Given the description of an element on the screen output the (x, y) to click on. 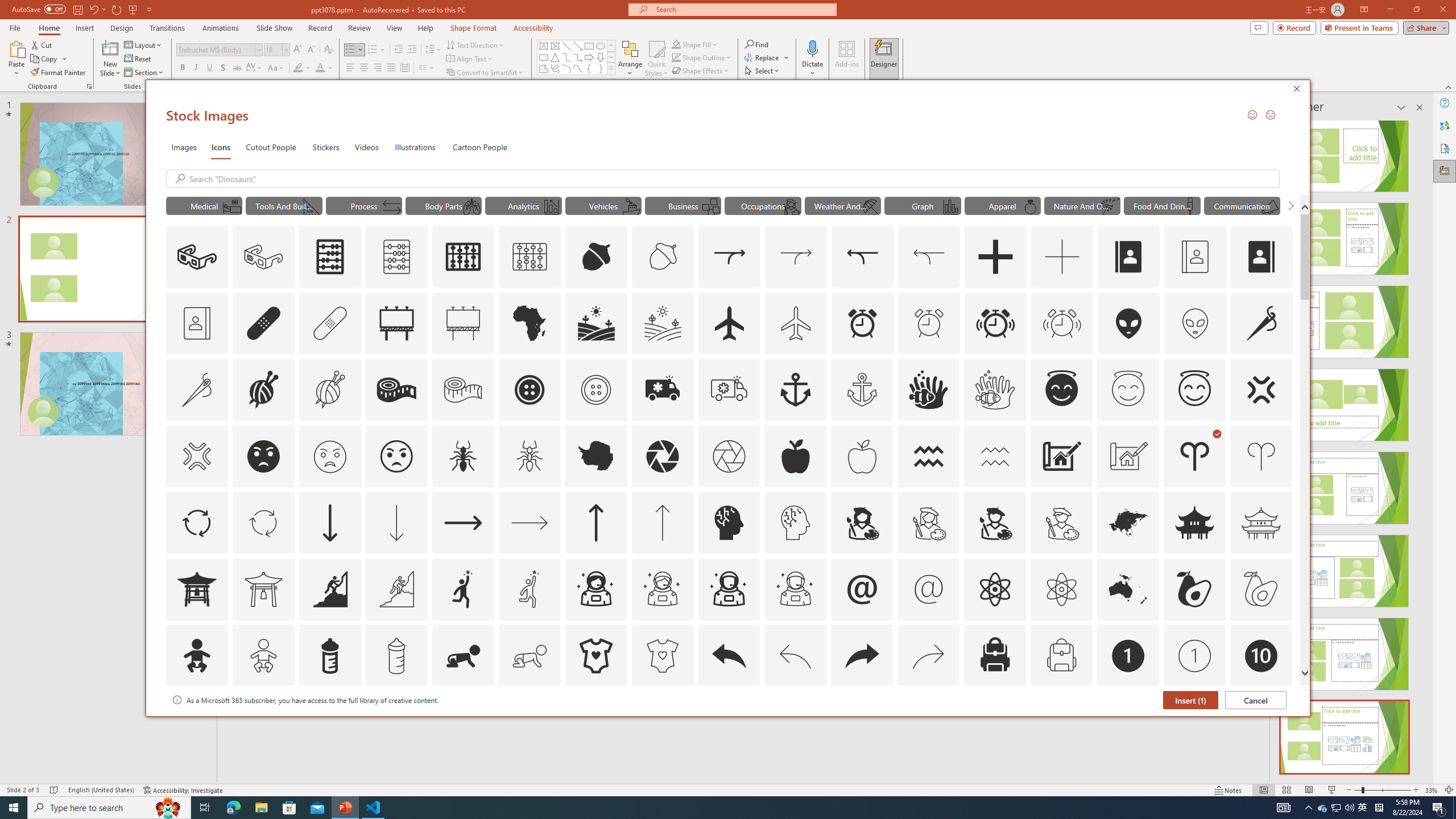
Shape Outline Green, Accent 1 (675, 56)
AutomationID: Icons_Abacus1_M (529, 256)
AutomationID: Icons_AddressBook_LTR_M (1194, 256)
AutomationID: Icons_AlarmClock (863, 323)
AutomationID: Icons_Ant (462, 455)
AutomationID: Icons_Badge8_M (1128, 721)
